Given the description of an element on the screen output the (x, y) to click on. 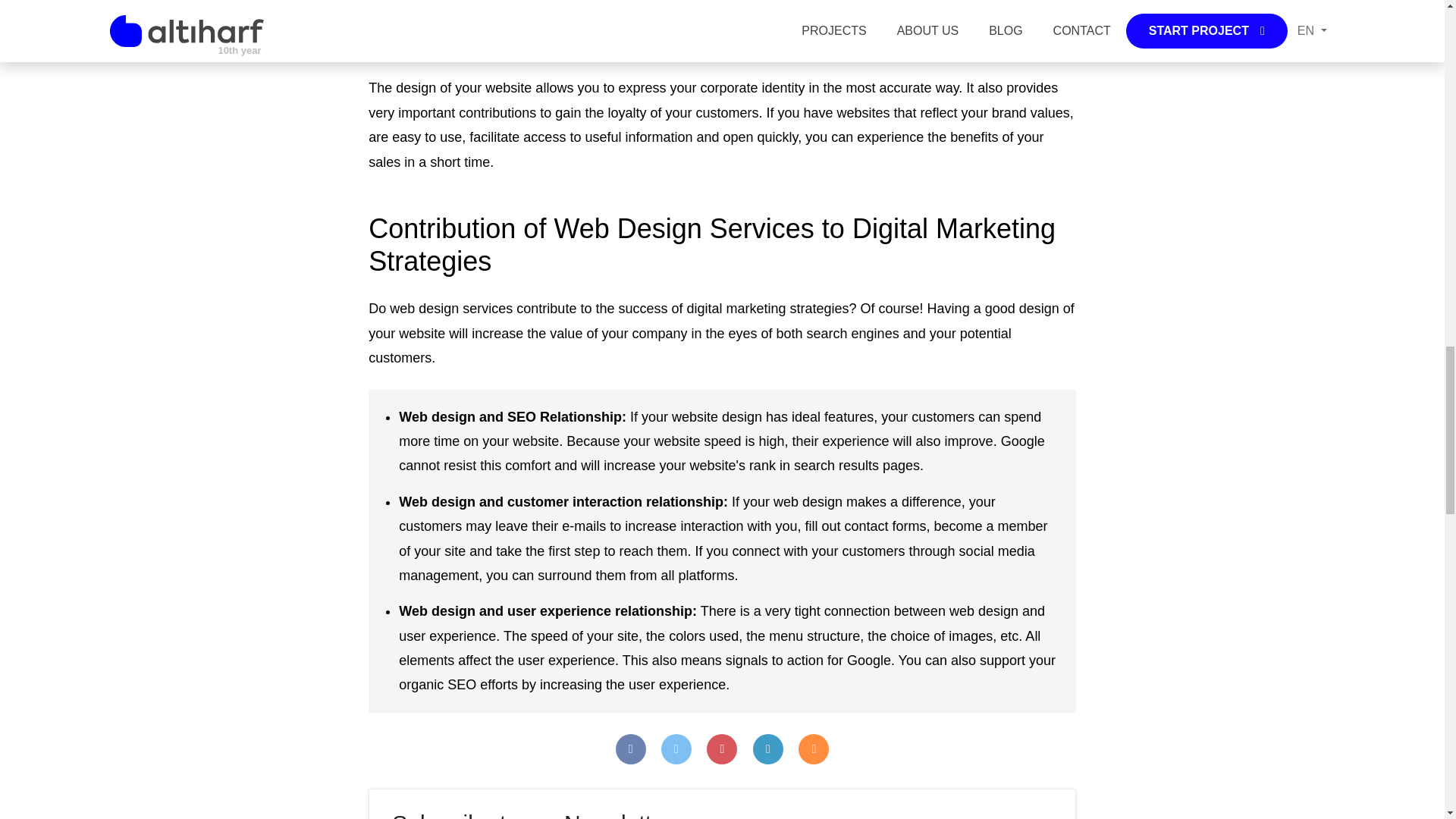
Facebook (630, 748)
Twitter (676, 748)
Email (812, 748)
Linkedin (767, 748)
Pinterest (721, 748)
